Given the description of an element on the screen output the (x, y) to click on. 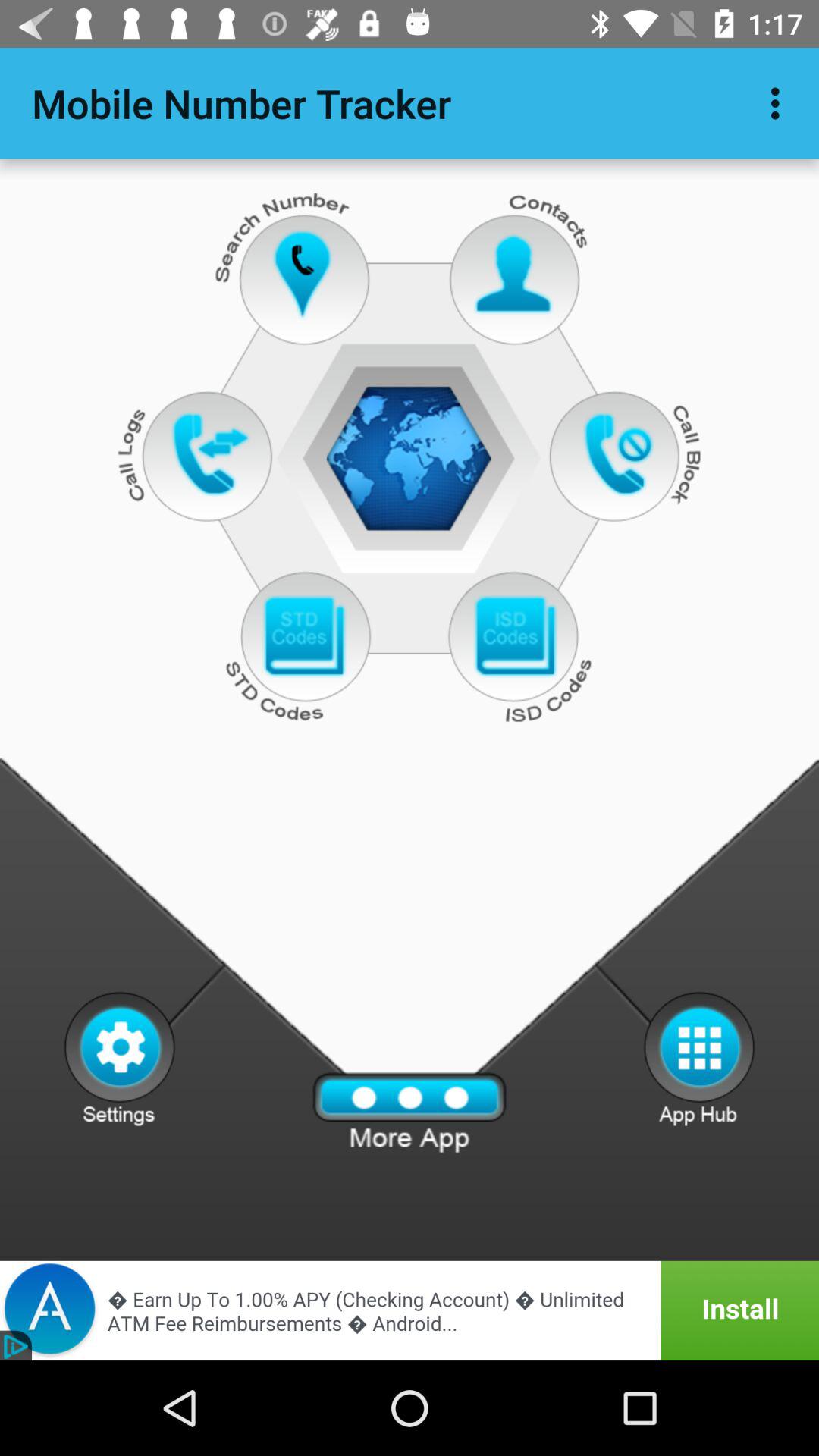
isd codes option (514, 637)
